Given the description of an element on the screen output the (x, y) to click on. 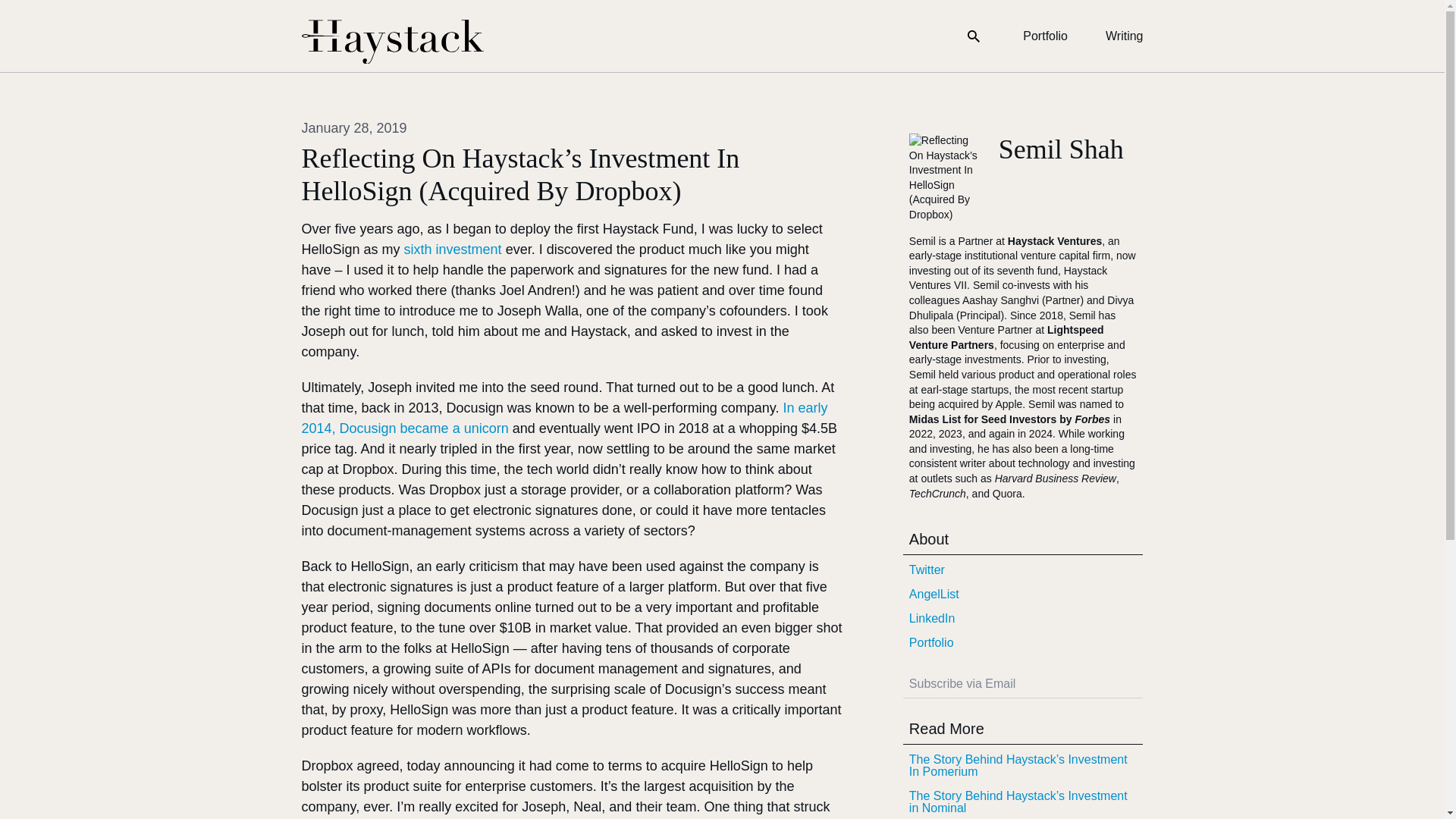
Semil Shah Blog (392, 41)
sixth investment (453, 249)
Subscribe (1133, 683)
LinkedIn (1022, 618)
Twitter (1022, 569)
AngelList (1022, 594)
Subscribe (1133, 683)
Writing (1123, 36)
Portfolio (1022, 642)
In early 2014, Docusign became a unicorn (564, 417)
Portfolio (1045, 36)
